Given the description of an element on the screen output the (x, y) to click on. 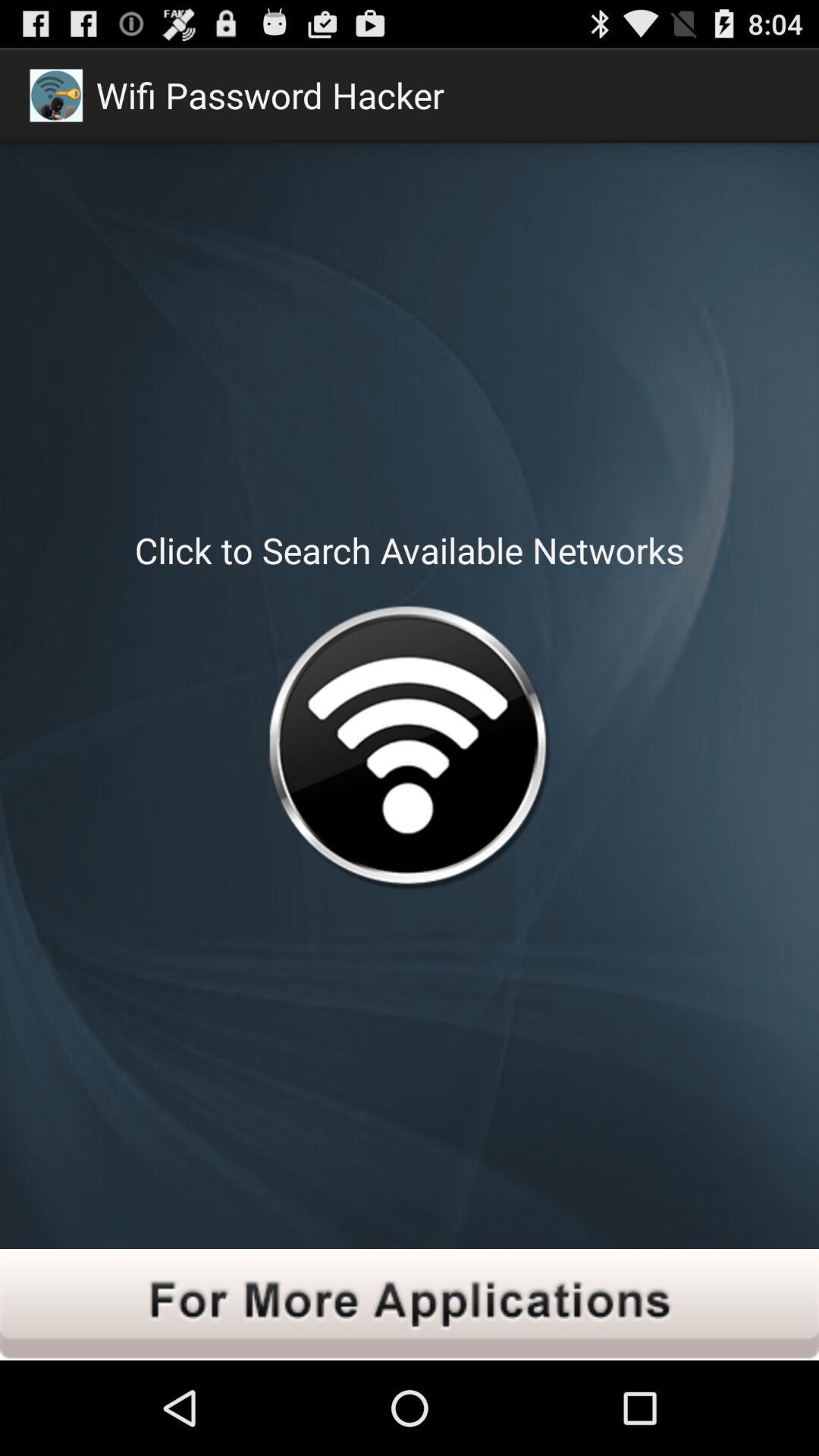
click button at the bottom (409, 1304)
